Given the description of an element on the screen output the (x, y) to click on. 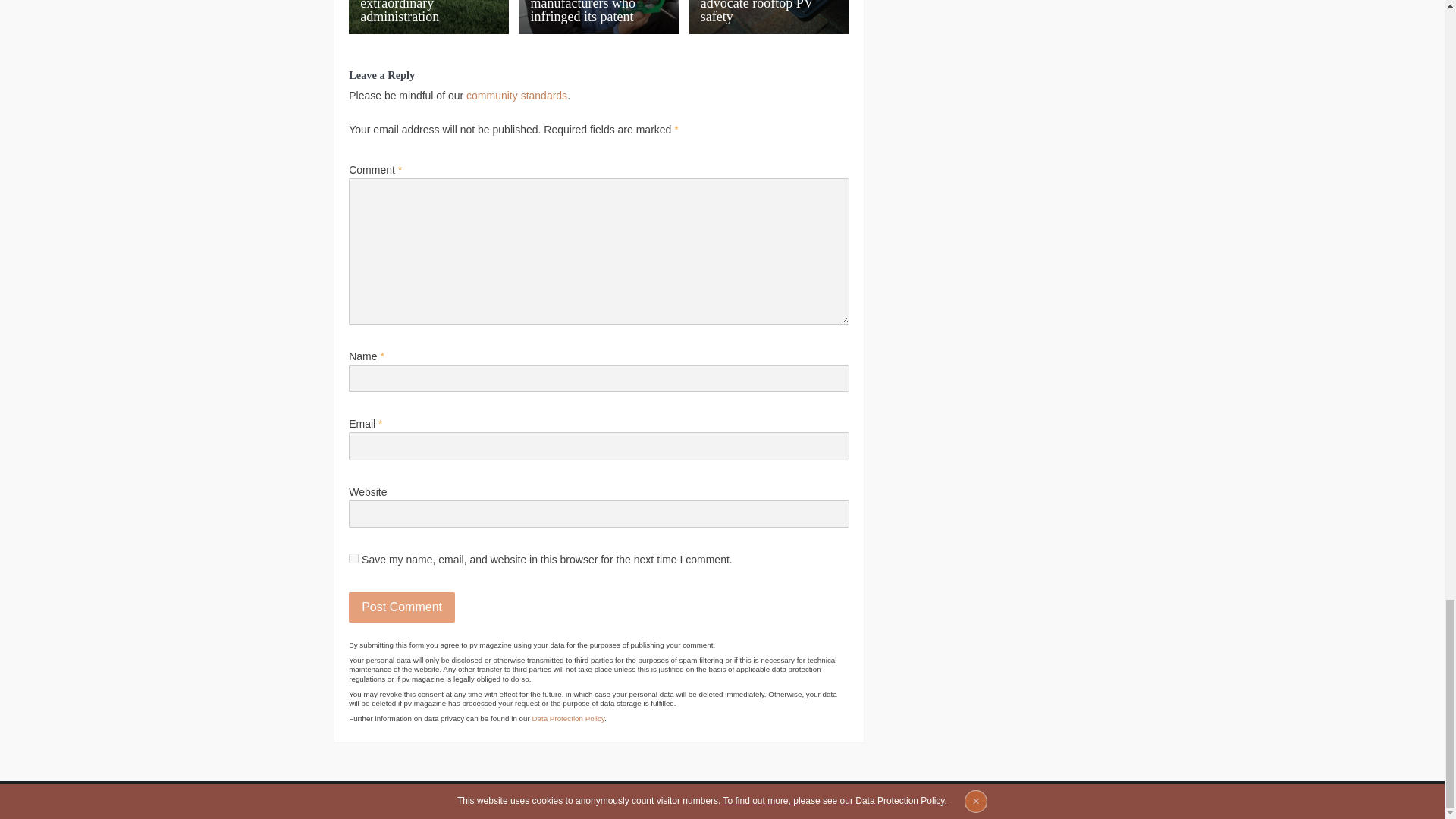
yes (353, 558)
Post Comment (401, 607)
